Given the description of an element on the screen output the (x, y) to click on. 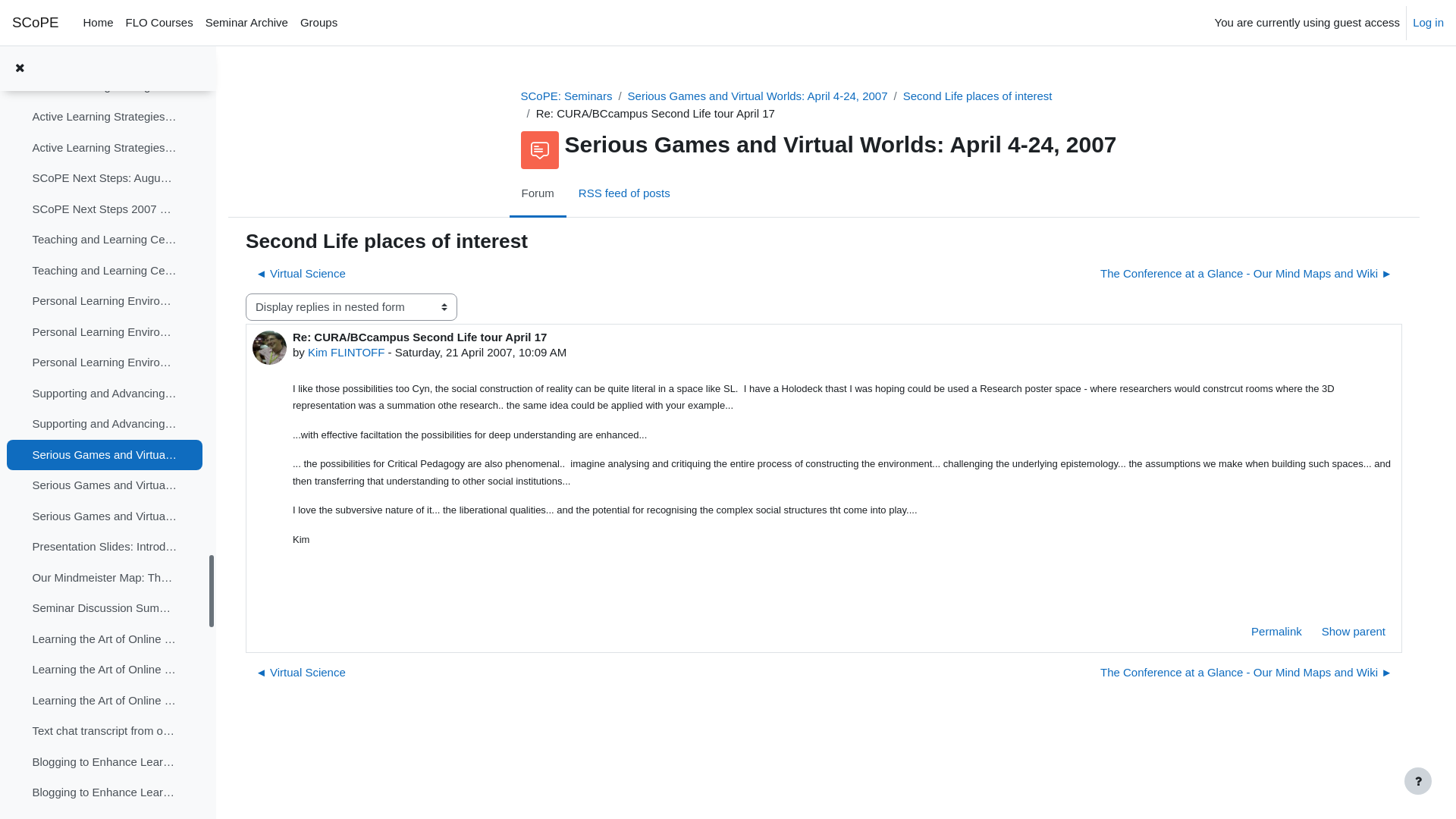
SCoPE: Seminars Element type: text (565, 95)
Home Element type: text (98, 22)
Supporting and Advancing Online Dialogue: May 7-27, 2007 Element type: text (103, 393)
eLearning in Developing Countries Wiki: Summary Element type: text (103, 25)
Seminar Archive Element type: text (246, 22)
Serious Games and Virtual Worlds: April 4-24, 2007 Element type: text (757, 95)
Forum Element type: text (537, 194)
Learning the Art of Online Facilitation Wiki: Summary Element type: text (103, 669)
RSS feed of posts Element type: text (624, 194)
Kim FLINTOFF Element type: text (345, 351)
Personal Learning Environments June 4-24, 2007 Element type: text (103, 301)
Show parent Element type: text (1353, 632)
Seminar Discussion Summary (PDF) Element type: text (103, 608)
eLearning in Developing Countries Wiki Element type: text (103, 55)
Permalink Element type: text (1276, 632)
Active Learning Strategies for Online Learning Wiki: Summary Element type: text (103, 116)
Close course index Element type: hover (19, 68)
Teaching and Learning Centres Wiki: Summary Element type: text (103, 270)
Personal Learning Environments Wiki: Resources Element type: text (103, 362)
Groups Element type: text (318, 22)
Second Life places of interest Element type: text (977, 95)
SCoPE Next Steps 2007 Wiki: Summary Element type: text (103, 209)
Serious Games and Virtual Worlds Wiki: Resource Collection Element type: text (103, 516)
Learning the Art of Online Facilitation: March 1-21, 2007 Element type: text (103, 639)
Personal Learning Environments Wiki: Summary Element type: text (103, 332)
Picture of Kim FLINTOFF Element type: hover (269, 347)
Supporting and Advancing Online Dialogue Wiki: Summary Element type: text (103, 424)
FLO Courses Element type: text (159, 22)
SCoPE Element type: text (35, 22)
Blogging to Enhance Learning Experiences Wiki: Summary Element type: text (103, 792)
SCoPE Next Steps: August 20 - September 2, 2007 Element type: text (103, 178)
Log in Element type: text (1427, 22)
Serious Games and Virtual Worlds Wiki: Summary Element type: text (103, 485)
Serious Games and Virtual Worlds: April 4-24, 2007 Element type: text (103, 455)
Active Learning Strategies Wiki: Resources Element type: text (103, 147)
Teaching and Learning Centres: June 25-July 6, 2007 Element type: text (103, 239)
